Given the description of an element on the screen output the (x, y) to click on. 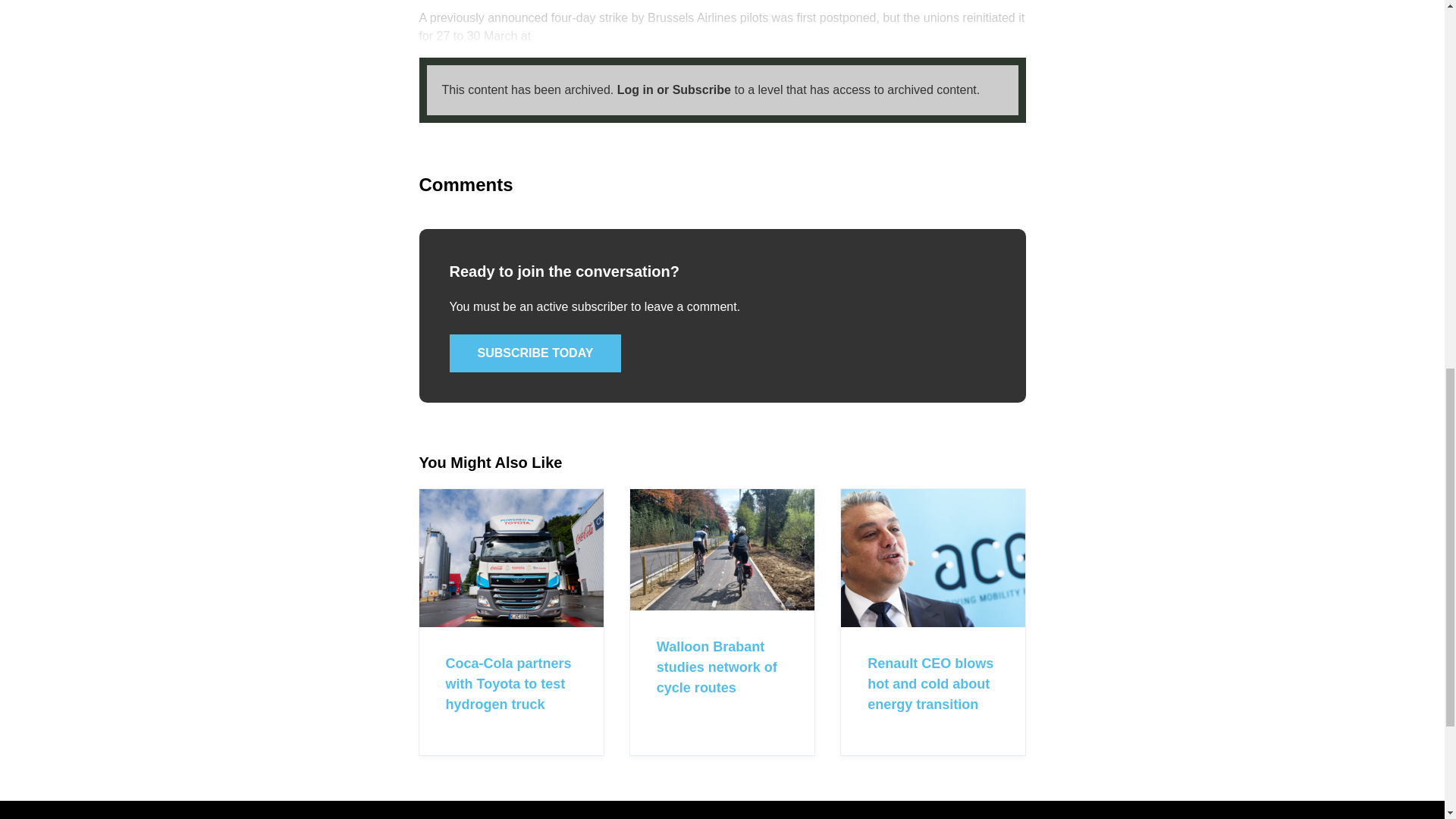
Walloon Brabant studies network of cycle routes (716, 667)
Renault CEO blows hot and cold about energy transition (929, 683)
Coca-Cola partners with Toyota to test hydrogen truck (508, 683)
Log in or Subscribe (673, 89)
SUBSCRIBE TODAY (534, 353)
